Given the description of an element on the screen output the (x, y) to click on. 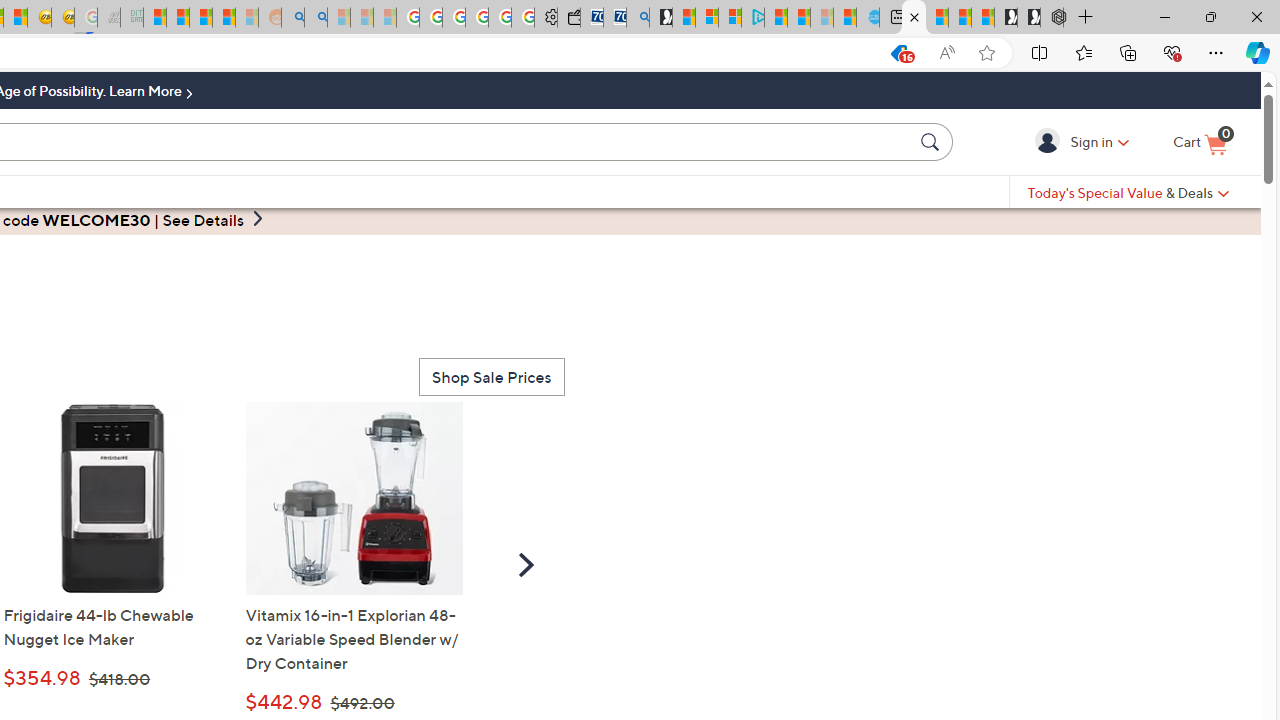
Navy Quest (109, 17)
This site has coupons! Shopping in Microsoft Edge, 16 (898, 53)
MSNBC - MSN (154, 17)
Search Submit (932, 141)
Cart is Empty  (1199, 143)
Today's Special Value & Deals (1128, 192)
